Given the description of an element on the screen output the (x, y) to click on. 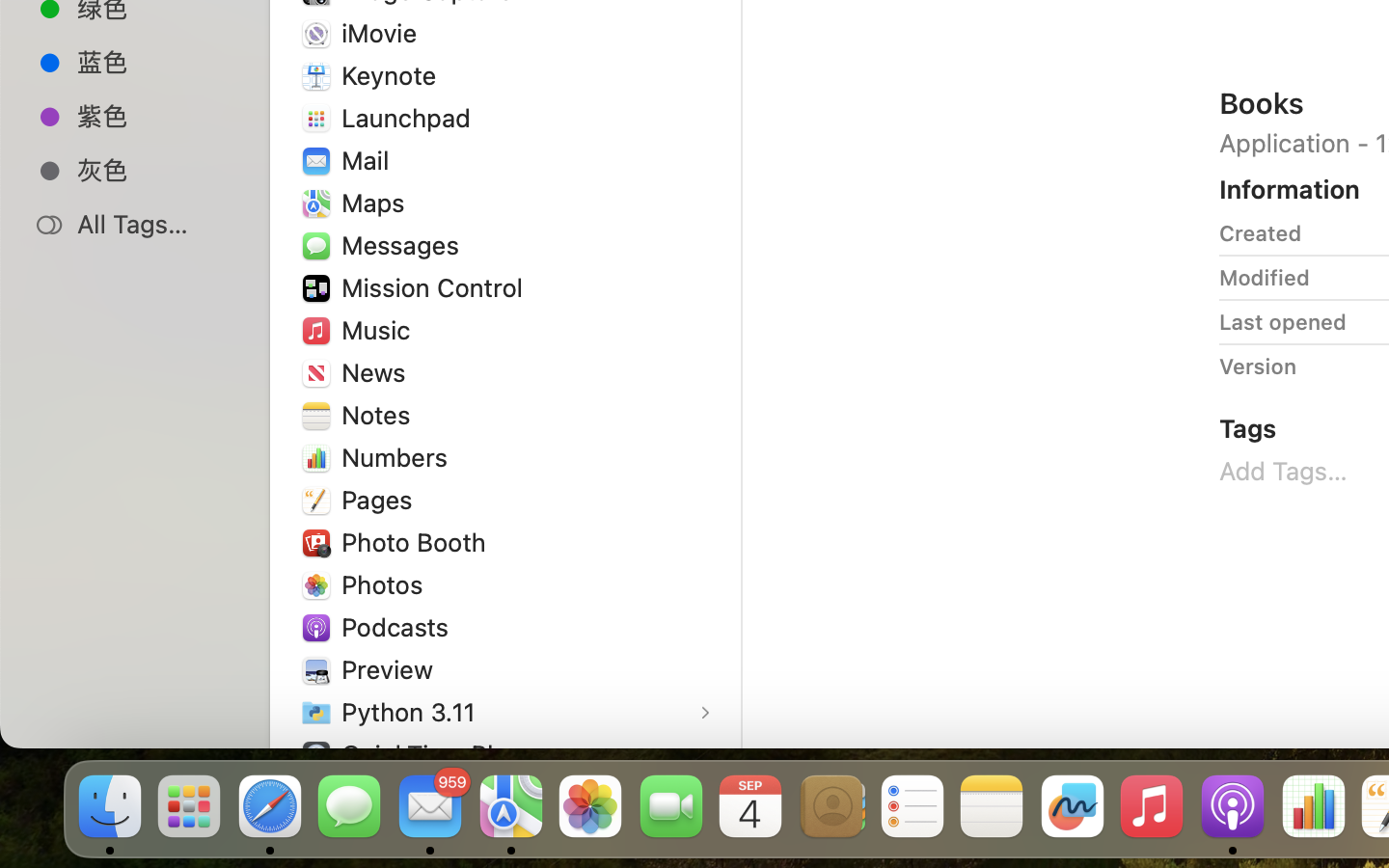
Mail Element type: AXTextField (369, 159)
Keynote Element type: AXTextField (393, 74)
QuickTime Player Element type: AXTextField (446, 753)
